Given the description of an element on the screen output the (x, y) to click on. 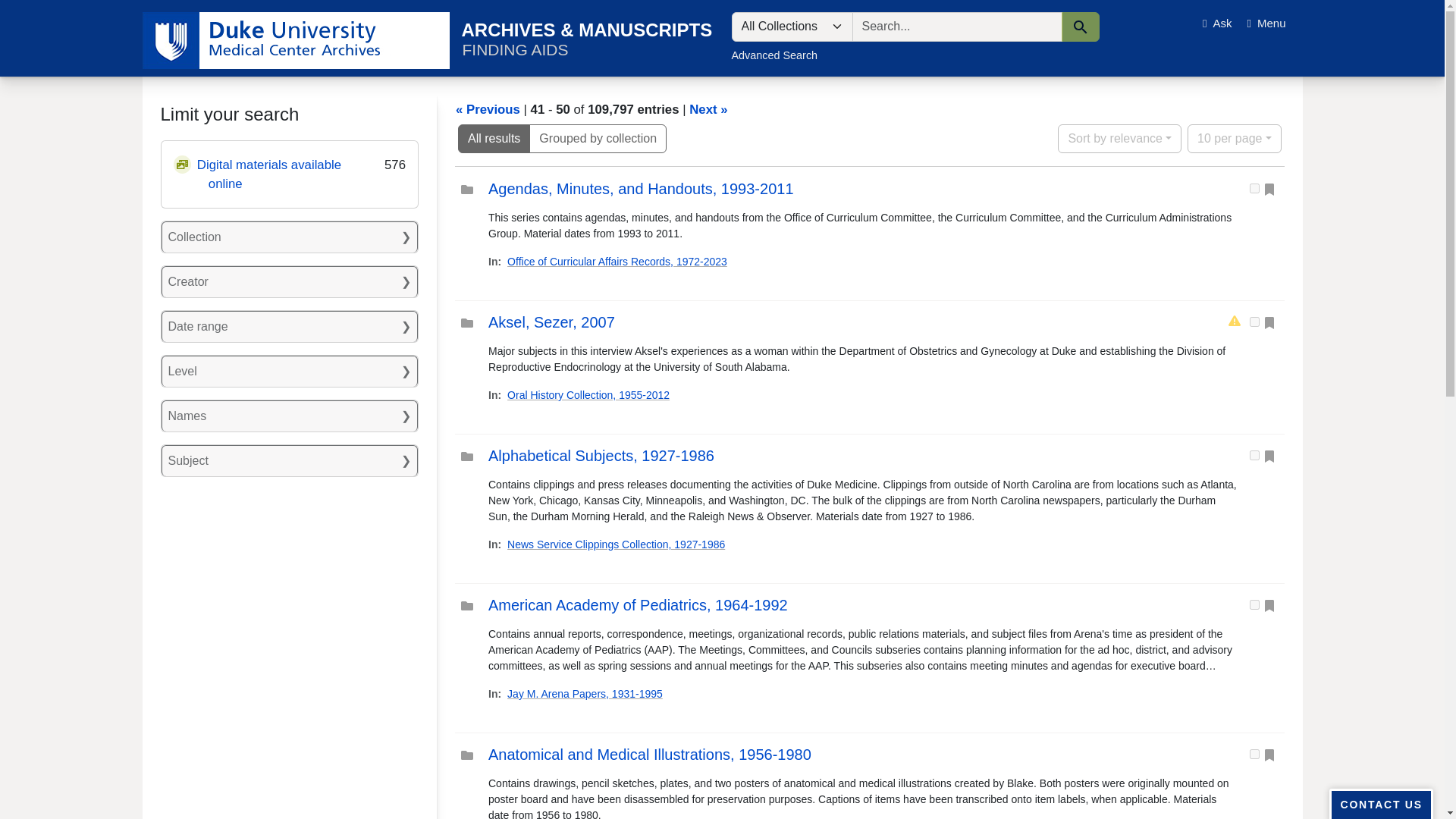
on (1254, 604)
Some restrictions apply (1234, 321)
Advanced Search (773, 55)
Sort by relevance (1119, 138)
Search (1080, 26)
Ask a Librarian (1217, 22)
on (1254, 754)
Agendas, Minutes, and Handouts, 1993-2011 (640, 188)
Ask (1217, 22)
Skip to main content (40, 9)
All results (493, 138)
Skip to first result (34, 9)
on (1254, 321)
Skip to search (38, 9)
Bookmark (37, 14)
